Given the description of an element on the screen output the (x, y) to click on. 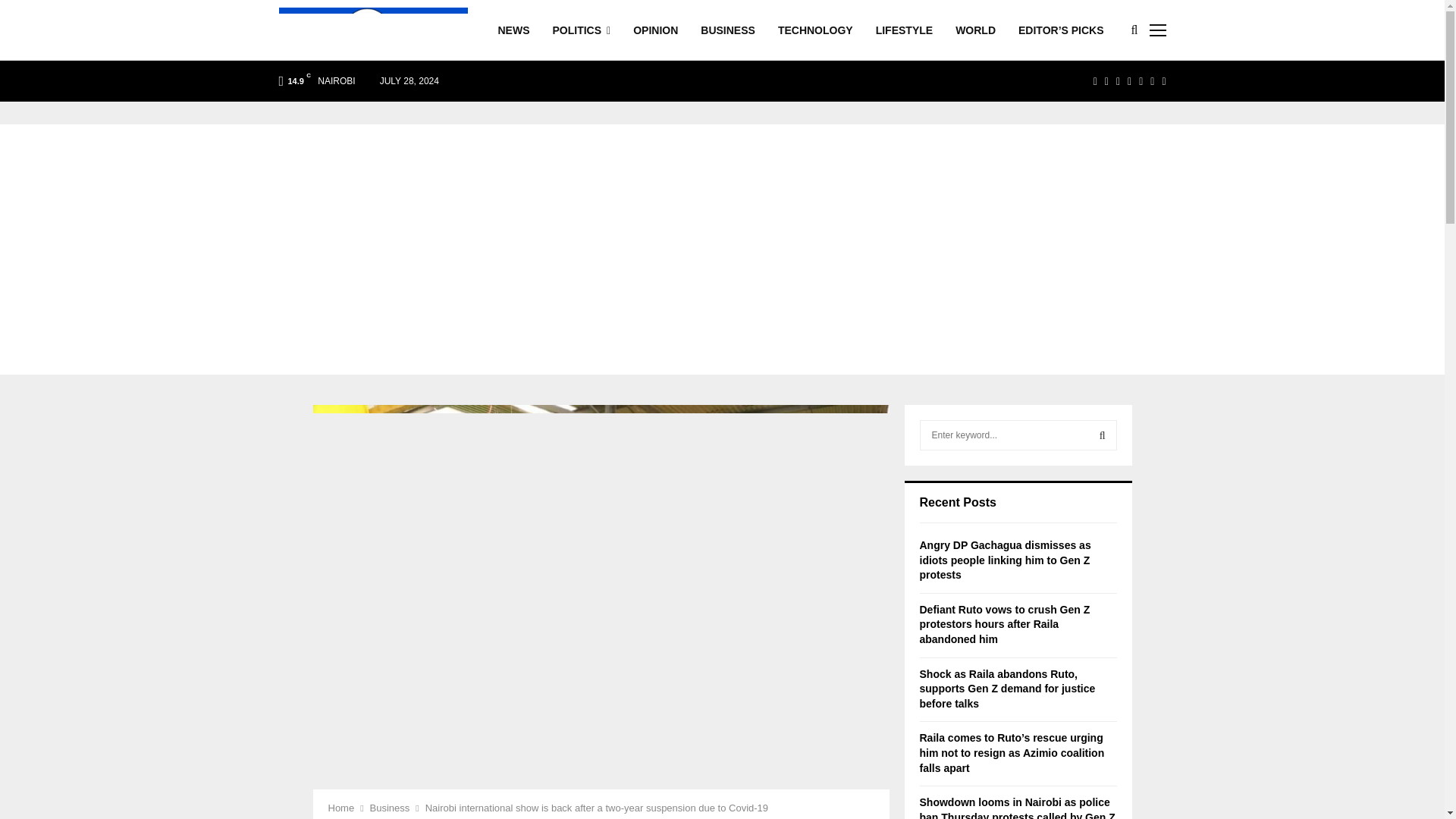
POLITICS (580, 30)
LIFESTYLE (904, 30)
BUSINESS (727, 30)
TECHNOLOGY (815, 30)
